Given the description of an element on the screen output the (x, y) to click on. 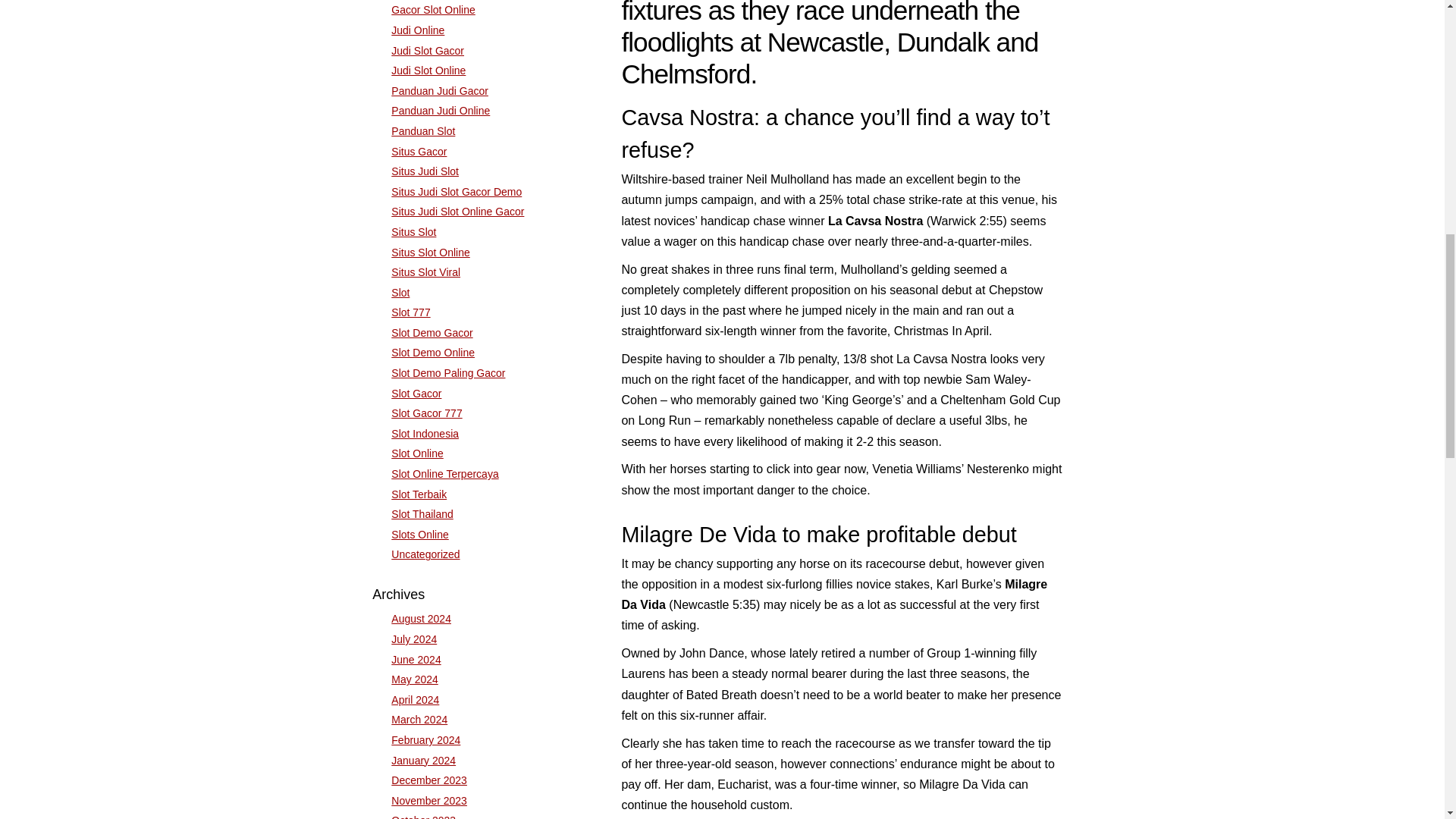
Slot 777 (410, 312)
Judi Slot Gacor (427, 50)
Panduan Judi Gacor (439, 91)
Situs Judi Slot Online Gacor (457, 211)
Panduan Judi Online (440, 110)
Judi Slot Online (428, 70)
Situs Slot (413, 232)
Situs Slot Viral (425, 272)
Slot Demo Gacor (431, 332)
Situs Judi Slot Gacor Demo (456, 191)
